Given the description of an element on the screen output the (x, y) to click on. 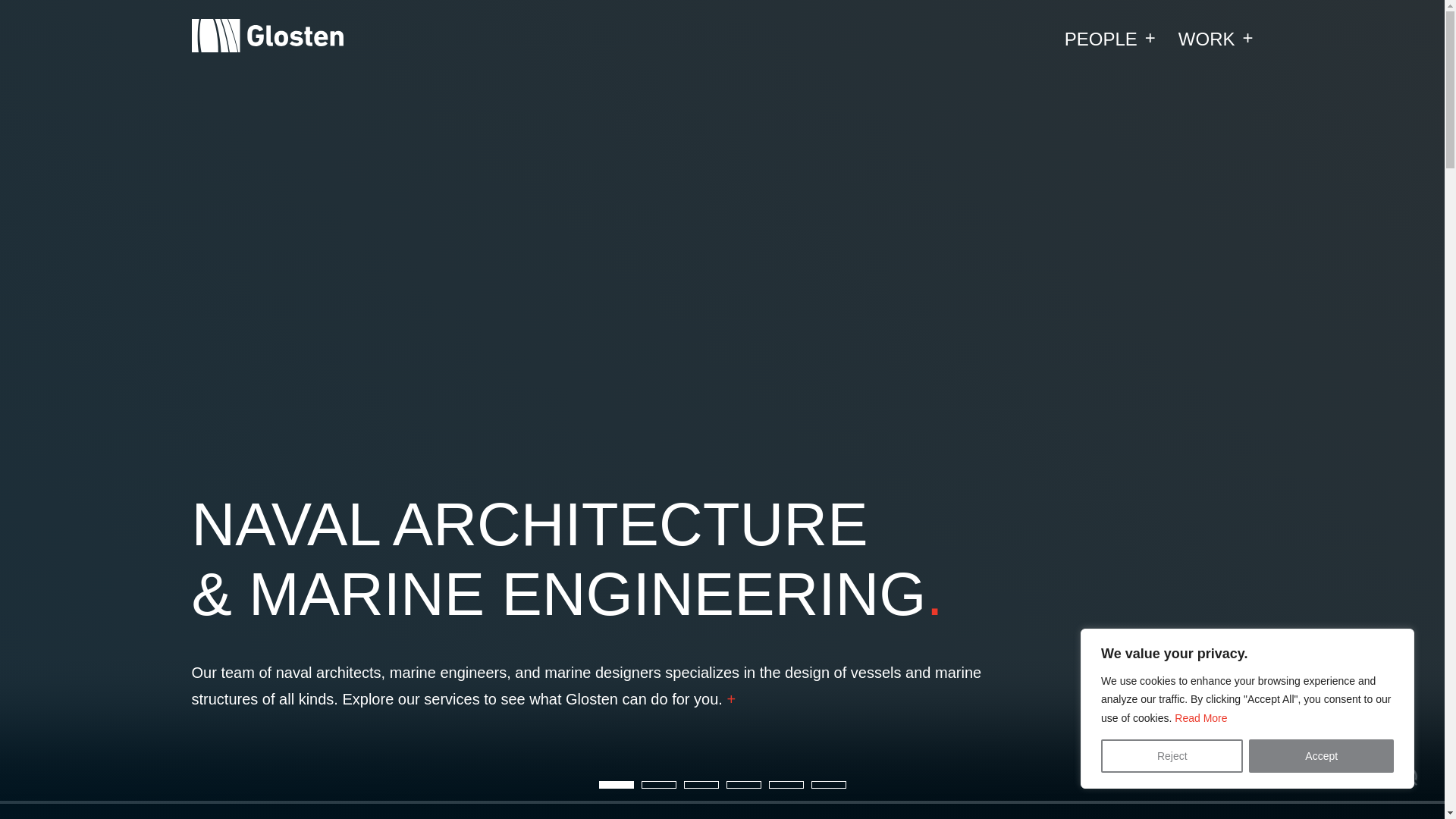
PEOPLE (1110, 38)
Accept (1321, 756)
WORK (1215, 38)
Read More (1200, 717)
Reject (1171, 756)
